Given the description of an element on the screen output the (x, y) to click on. 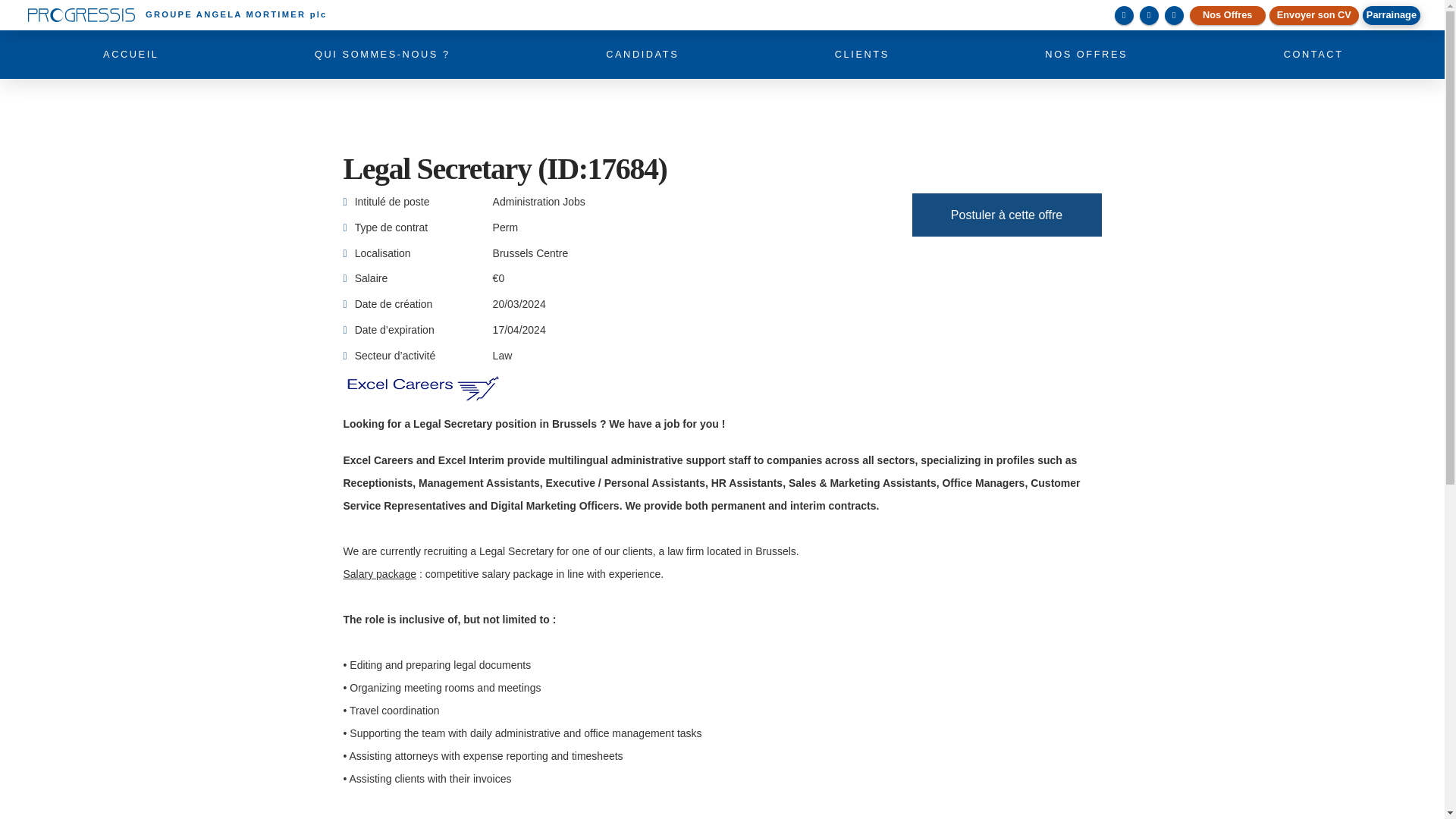
QUI SOMMES-NOUS ? (381, 54)
CLIENTS (860, 54)
ACCUEIL (129, 54)
CANDIDATS (641, 54)
CONTACT (1313, 54)
NOS OFFRES (1085, 54)
Envoyer son CV (1313, 15)
Envoyer (612, 602)
Nos Offres (1227, 15)
